Given the description of an element on the screen output the (x, y) to click on. 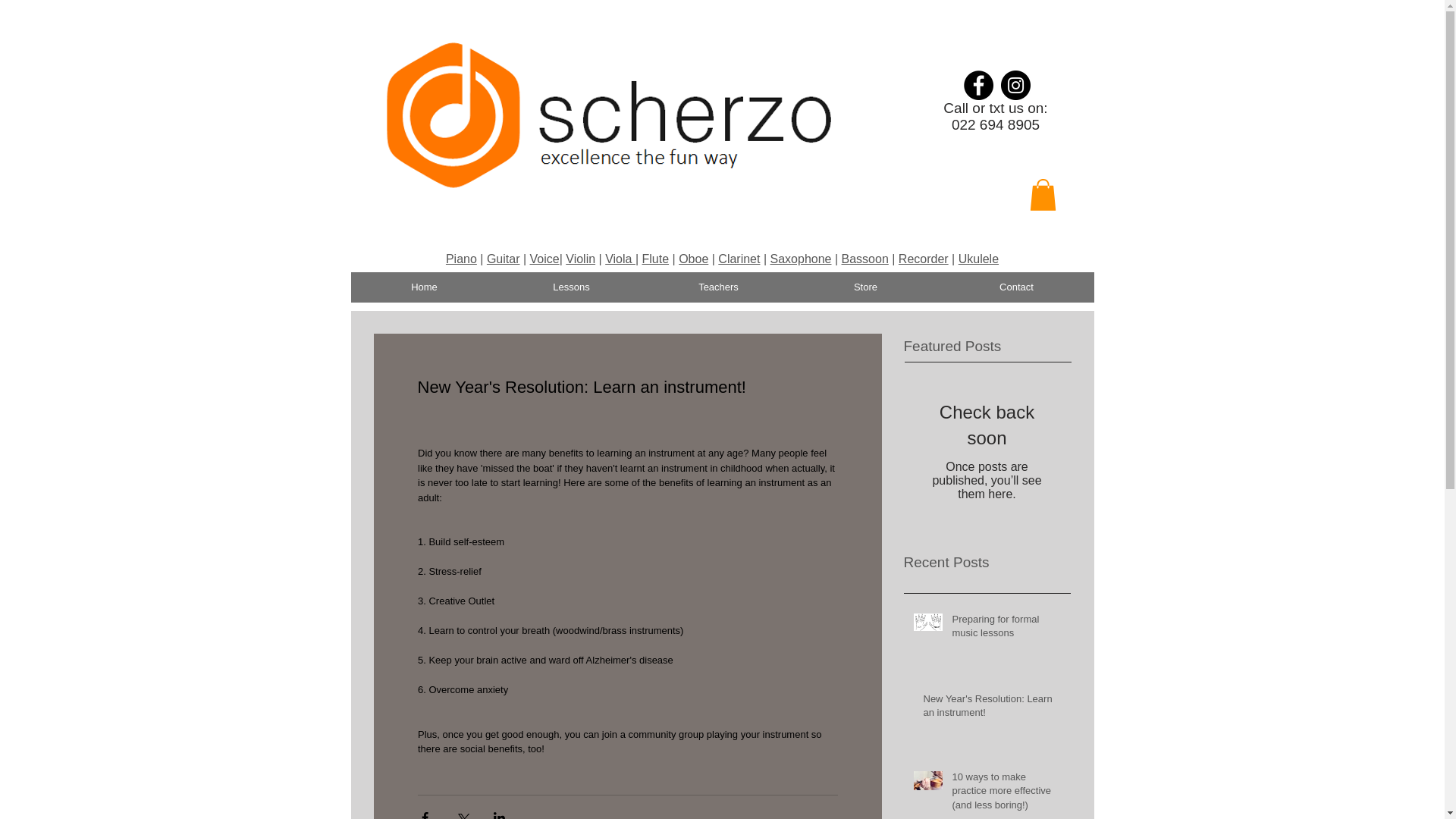
Guitar (502, 258)
Clarinet (738, 258)
Home (423, 286)
Saxophone (800, 258)
Violin (580, 258)
Ukulele (978, 258)
Viola  (619, 258)
Voice (544, 258)
Piano (461, 258)
Teachers (718, 286)
